Given the description of an element on the screen output the (x, y) to click on. 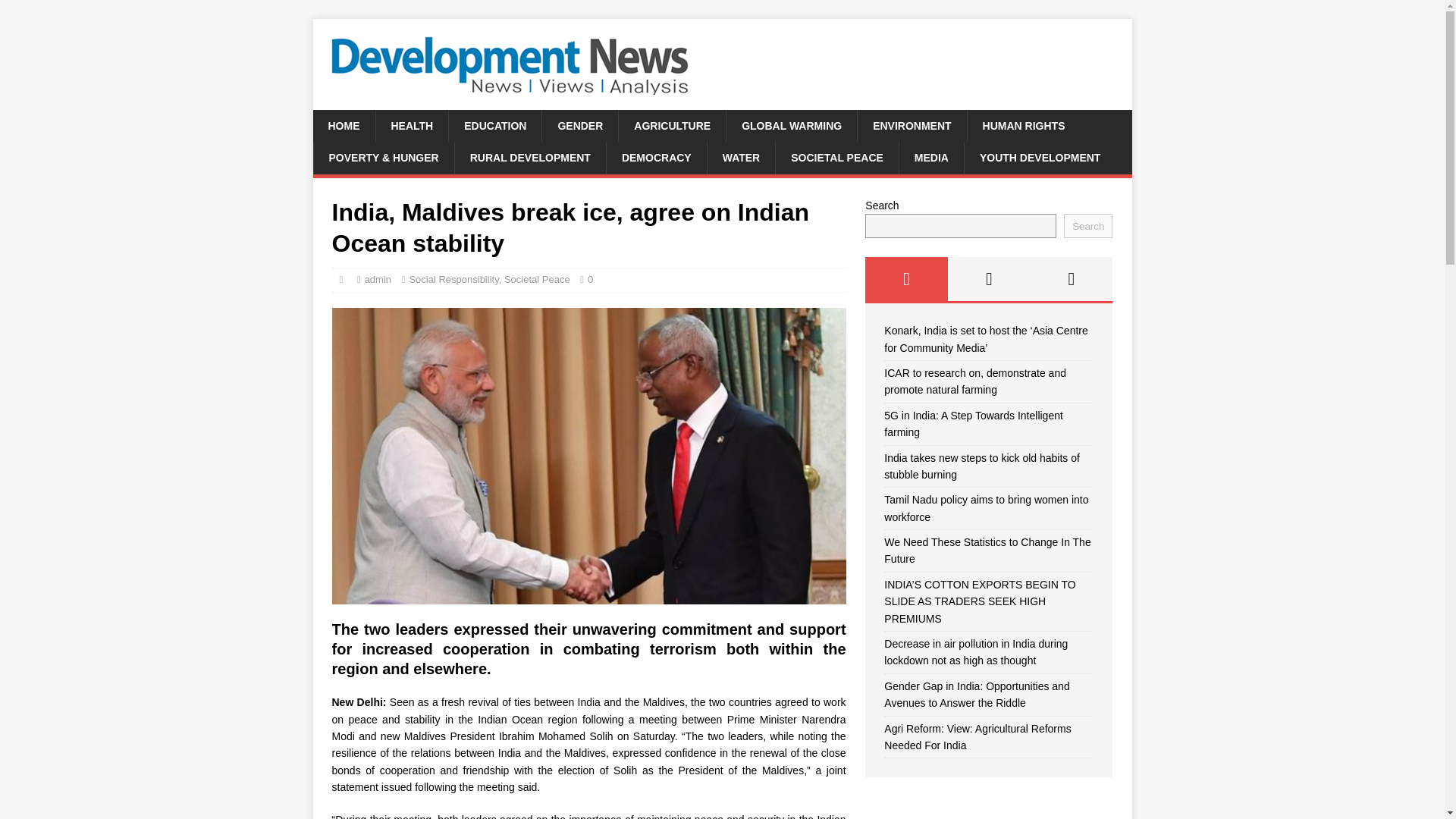
MEDIA (930, 157)
WATER (741, 157)
Social Responsibility (453, 279)
SOCIETAL PEACE (836, 157)
admin (378, 279)
RURAL DEVELOPMENT (529, 157)
ENVIRONMENT (911, 125)
GLOBAL WARMING (791, 125)
GENDER (579, 125)
HOME (343, 125)
AGRICULTURE (671, 125)
HUMAN RIGHTS (1023, 125)
0 (590, 279)
0 (590, 279)
